Given the description of an element on the screen output the (x, y) to click on. 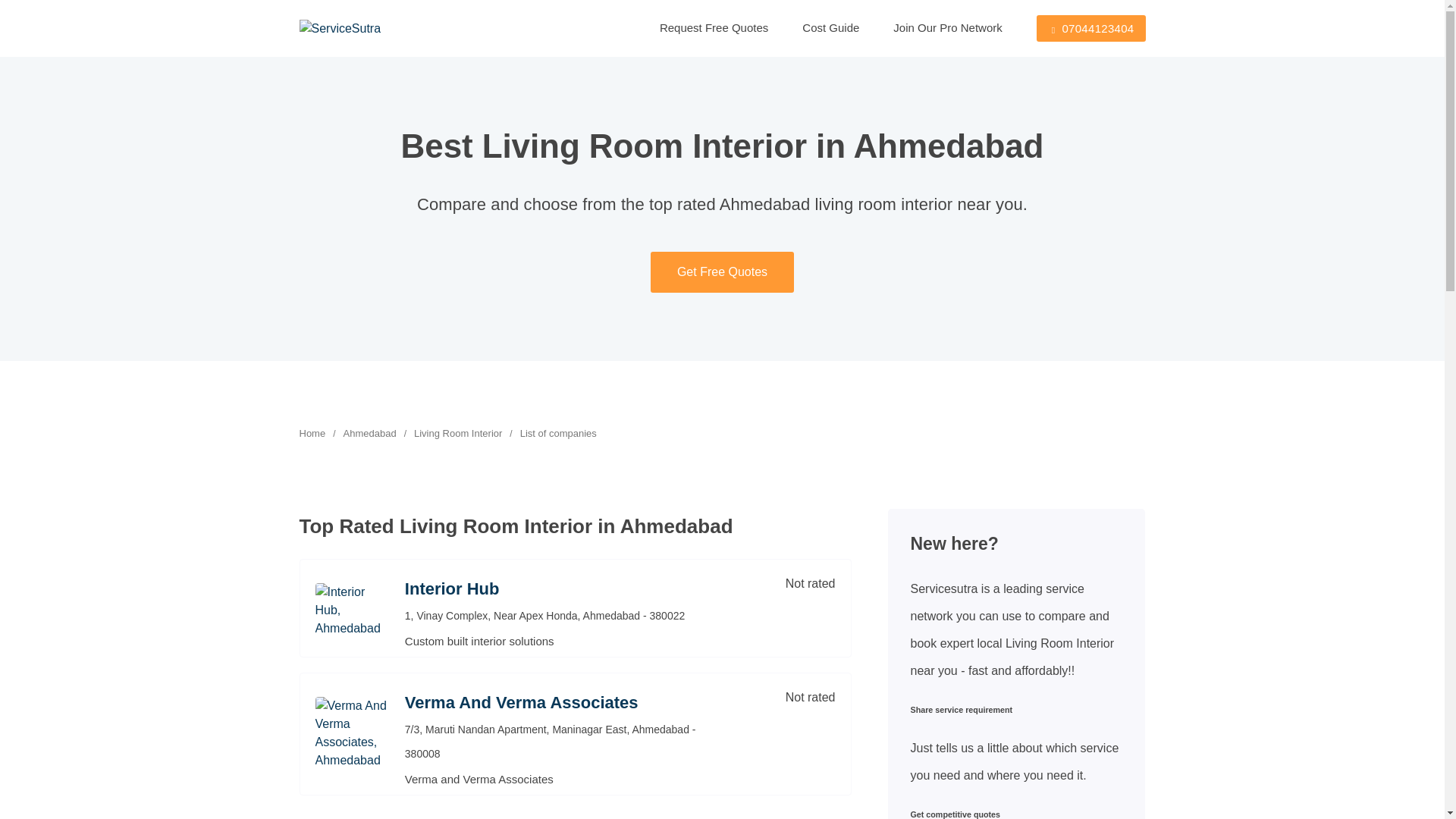
Interior Hub, Ahmedabad (552, 588)
Get Free Quotes (721, 271)
07044123404 (1090, 28)
Request Free Quotes (697, 27)
How It Works (813, 27)
Call: 07044123404 for Best Rate and offers (1090, 28)
07044123404 (1090, 28)
Grow your Business (930, 27)
Cost Guide (813, 27)
Home (311, 433)
Request Service (697, 27)
Cost Guide (813, 27)
Join Our Pro Network (930, 27)
View pofile (351, 610)
Verma And Verma Associates (552, 702)
